Given the description of an element on the screen output the (x, y) to click on. 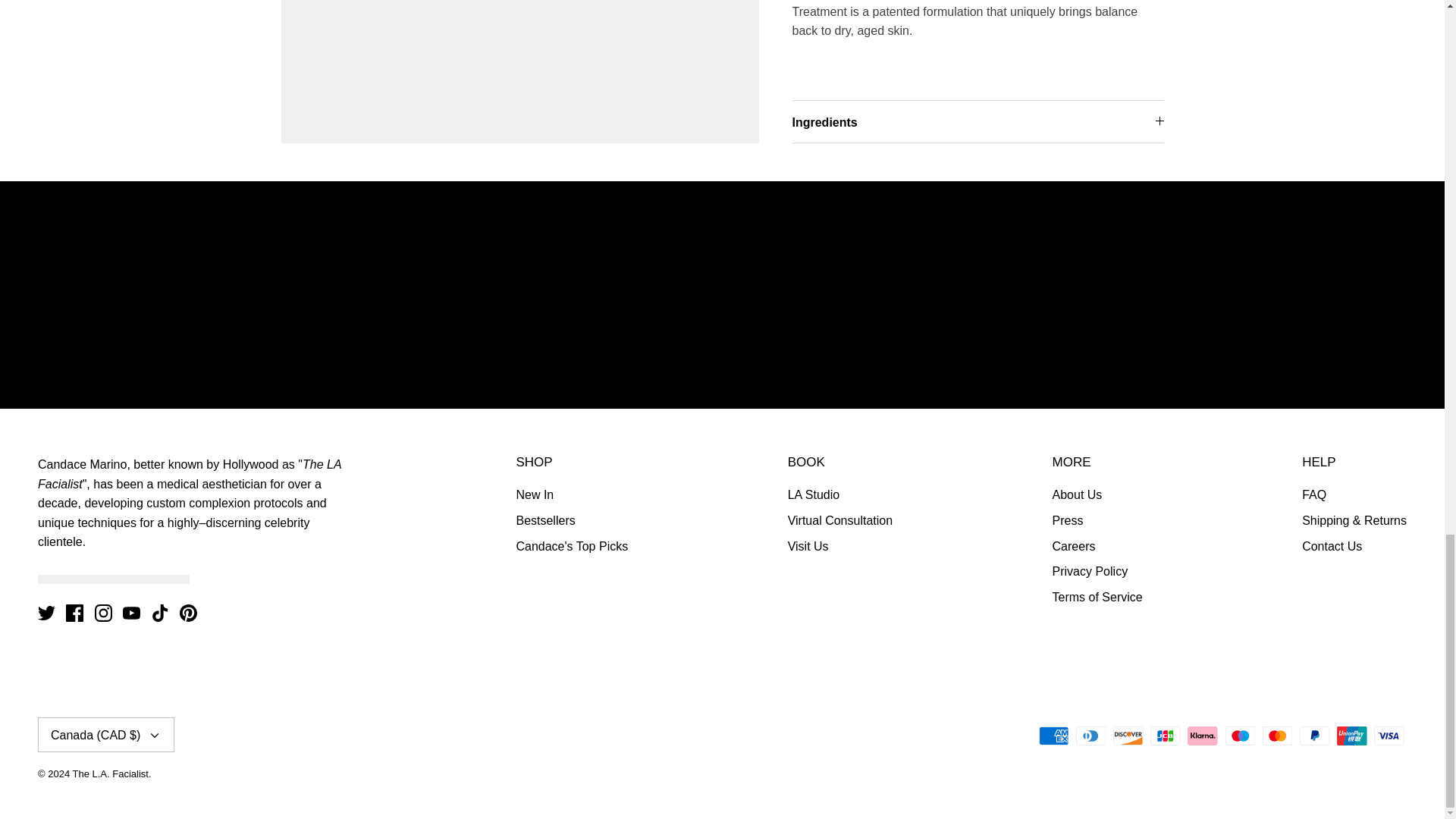
Visa (1388, 735)
Down (154, 735)
Facebook (73, 612)
Youtube (130, 612)
Instagram (103, 612)
JCB (1165, 735)
Mastercard (1277, 735)
Maestro (1240, 735)
Pinterest (187, 612)
Klarna (1202, 735)
Diners Club (1090, 735)
PayPal (1314, 735)
Union Pay (1351, 735)
American Express (1053, 735)
Twitter (46, 612)
